Given the description of an element on the screen output the (x, y) to click on. 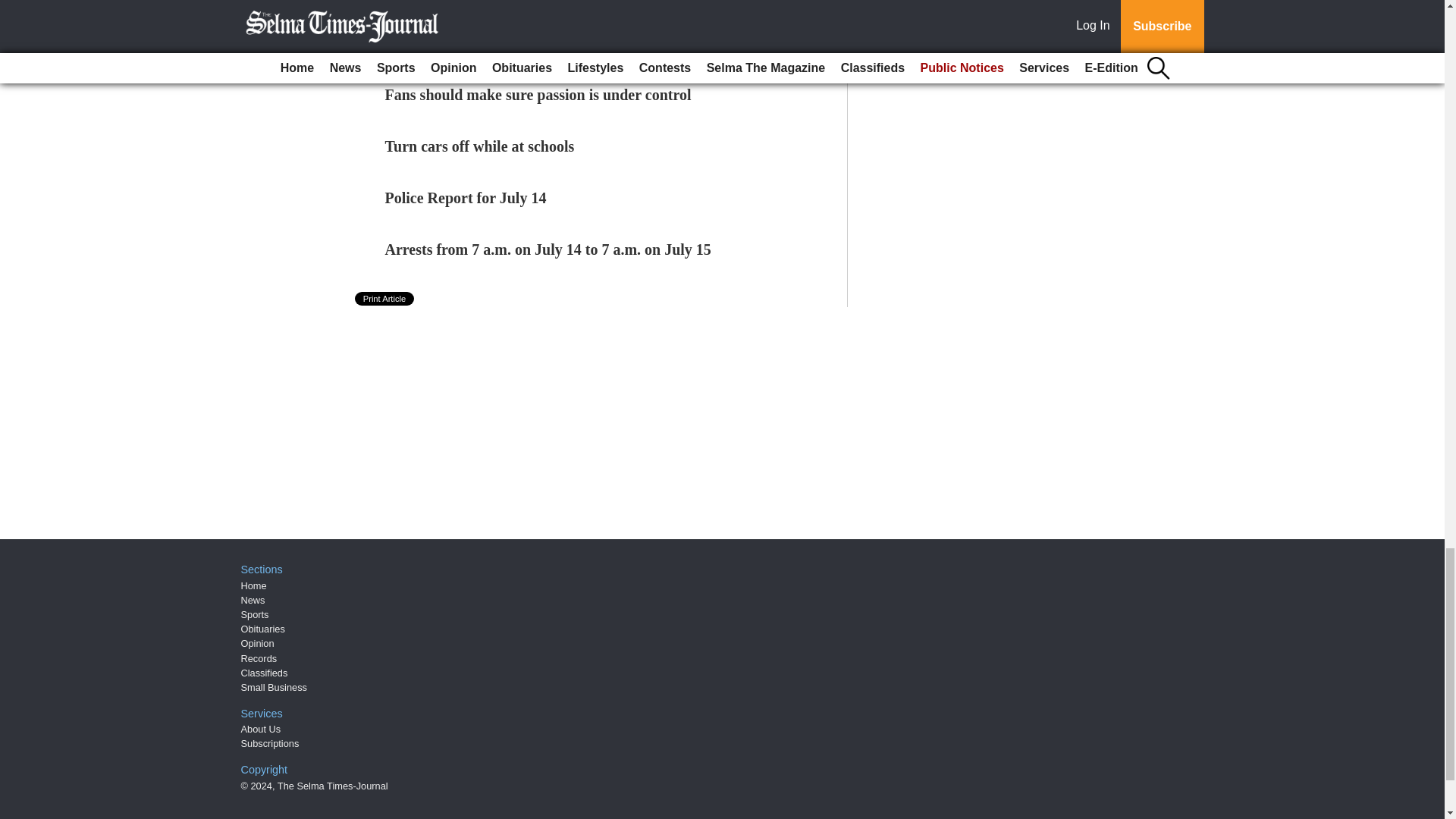
Print Article (384, 298)
Home (253, 585)
Police Report for July 14 (466, 197)
Fans should make sure passion is under control (538, 94)
Turn cars off while at schools (480, 146)
Police Report for July 14 (466, 197)
Arrests from 7 a.m. on July 14 to 7 a.m. on July 15 (548, 248)
Fans should make sure passion is under control (538, 94)
Arrests from 7 a.m. on July 14 to 7 a.m. on July 15 (548, 248)
Turn cars off while at schools (480, 146)
